Given the description of an element on the screen output the (x, y) to click on. 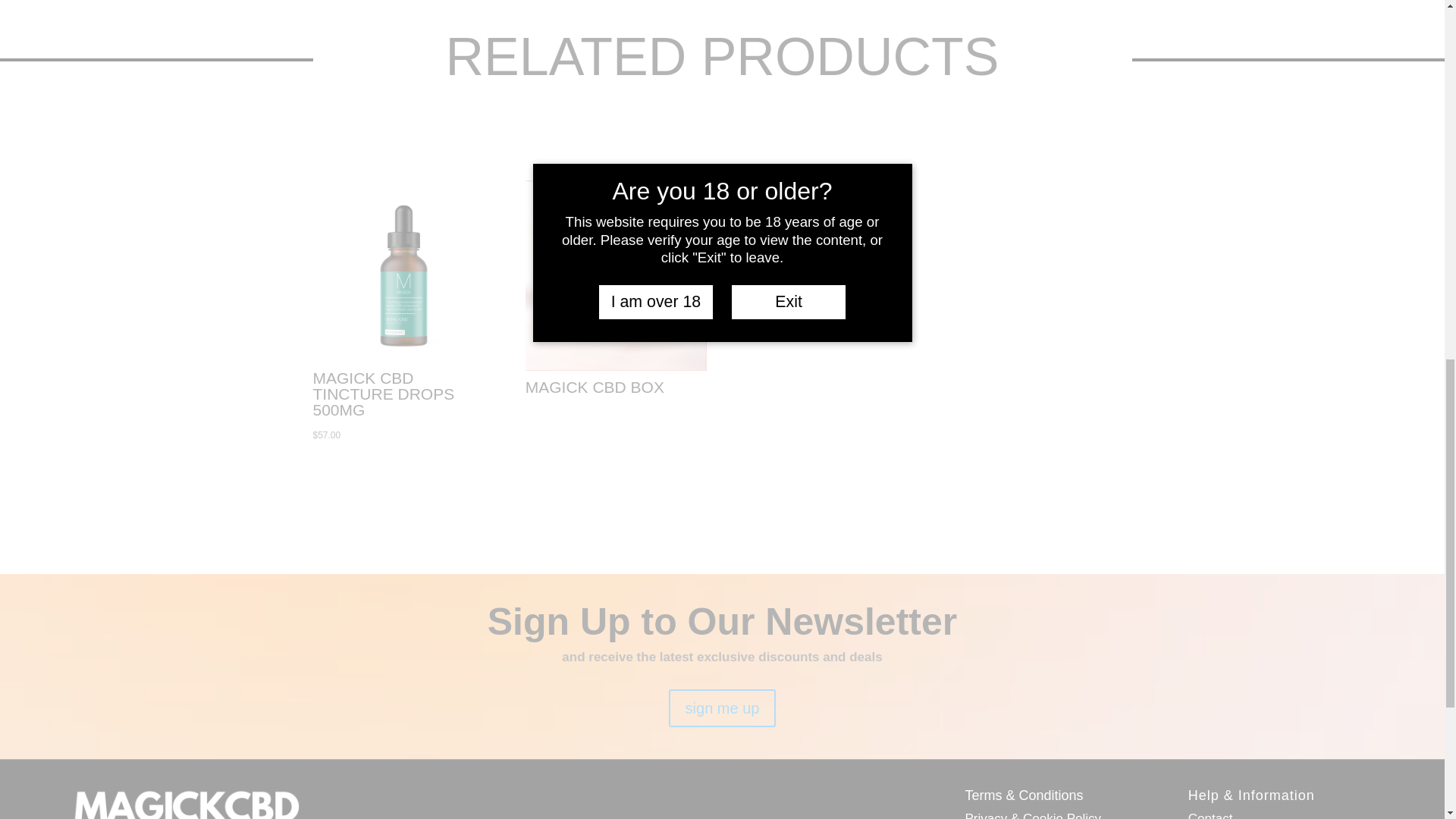
Magick-logo-white (185, 803)
sign me up (722, 708)
Contact (1210, 815)
